Given the description of an element on the screen output the (x, y) to click on. 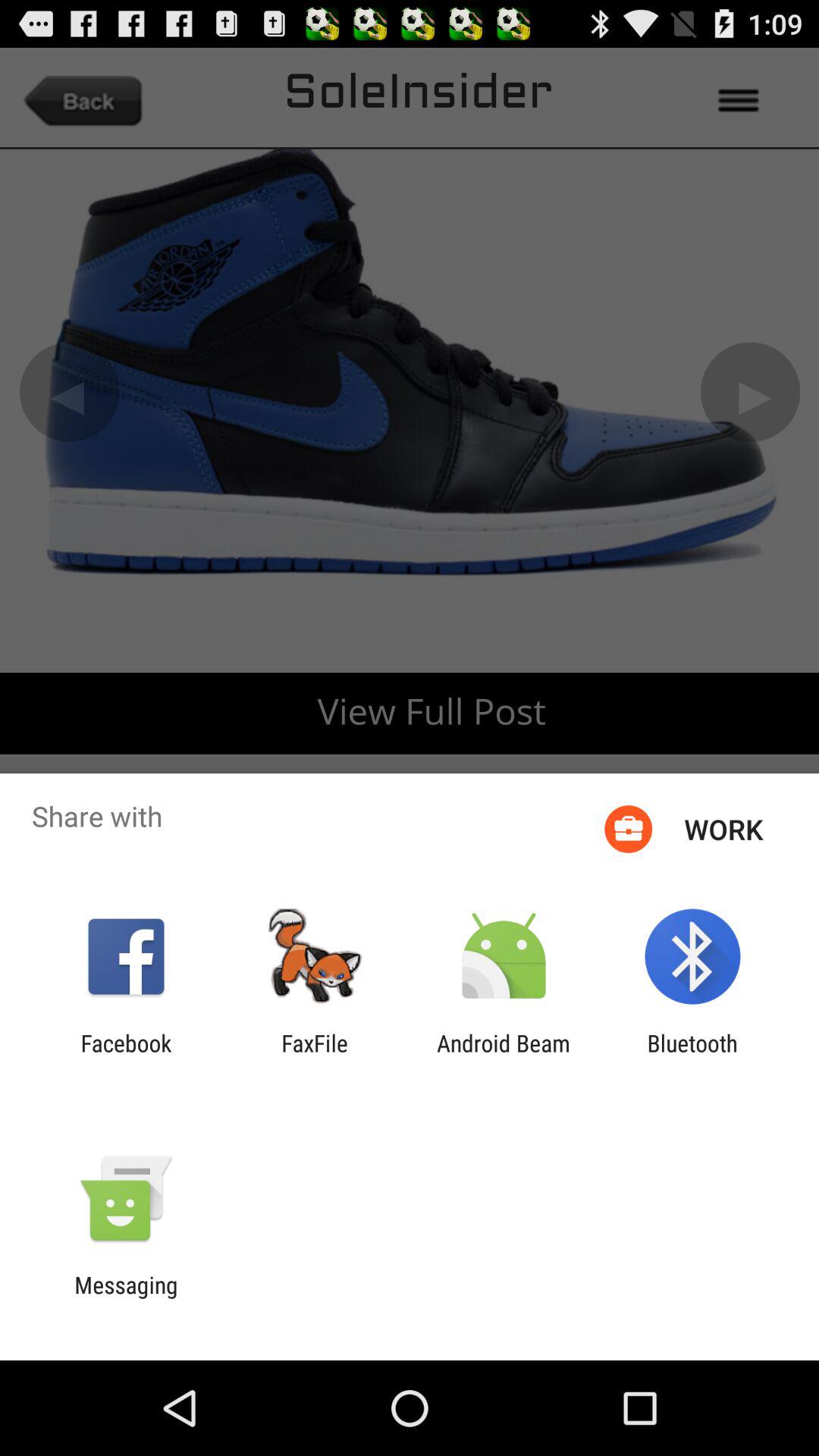
press the android beam (503, 1056)
